Given the description of an element on the screen output the (x, y) to click on. 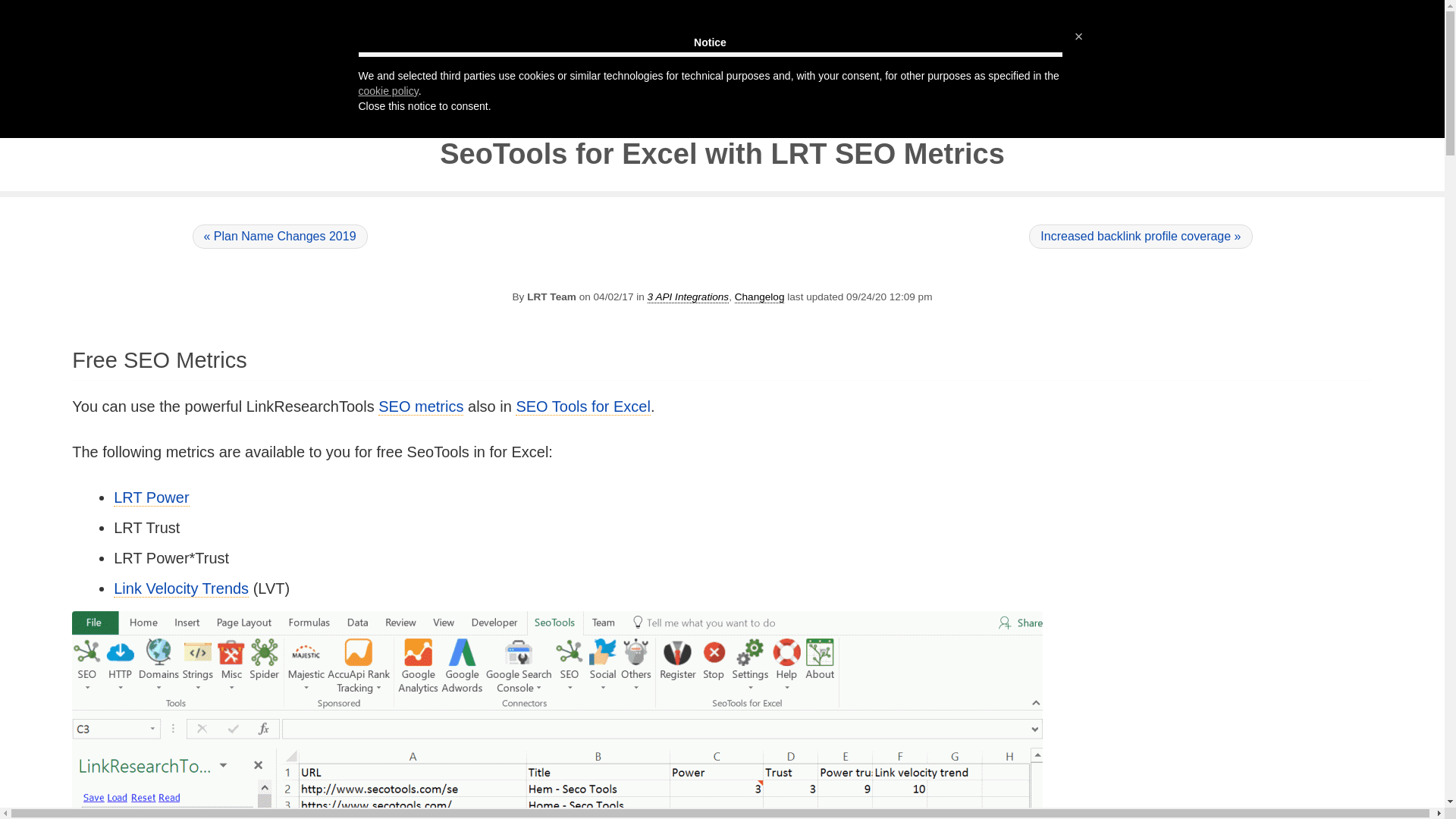
LRT - The SEO Tools (574, 51)
Tour (218, 20)
Recommendations (536, 20)
Sign in (1412, 20)
Contact (728, 20)
Deutsch (1313, 20)
Changelog (759, 297)
Deutsch (1337, 20)
Pricing (435, 20)
Browse category (759, 297)
Product (364, 20)
Changelog (675, 51)
3 API Integrations (688, 297)
Browse category (688, 297)
